Given the description of an element on the screen output the (x, y) to click on. 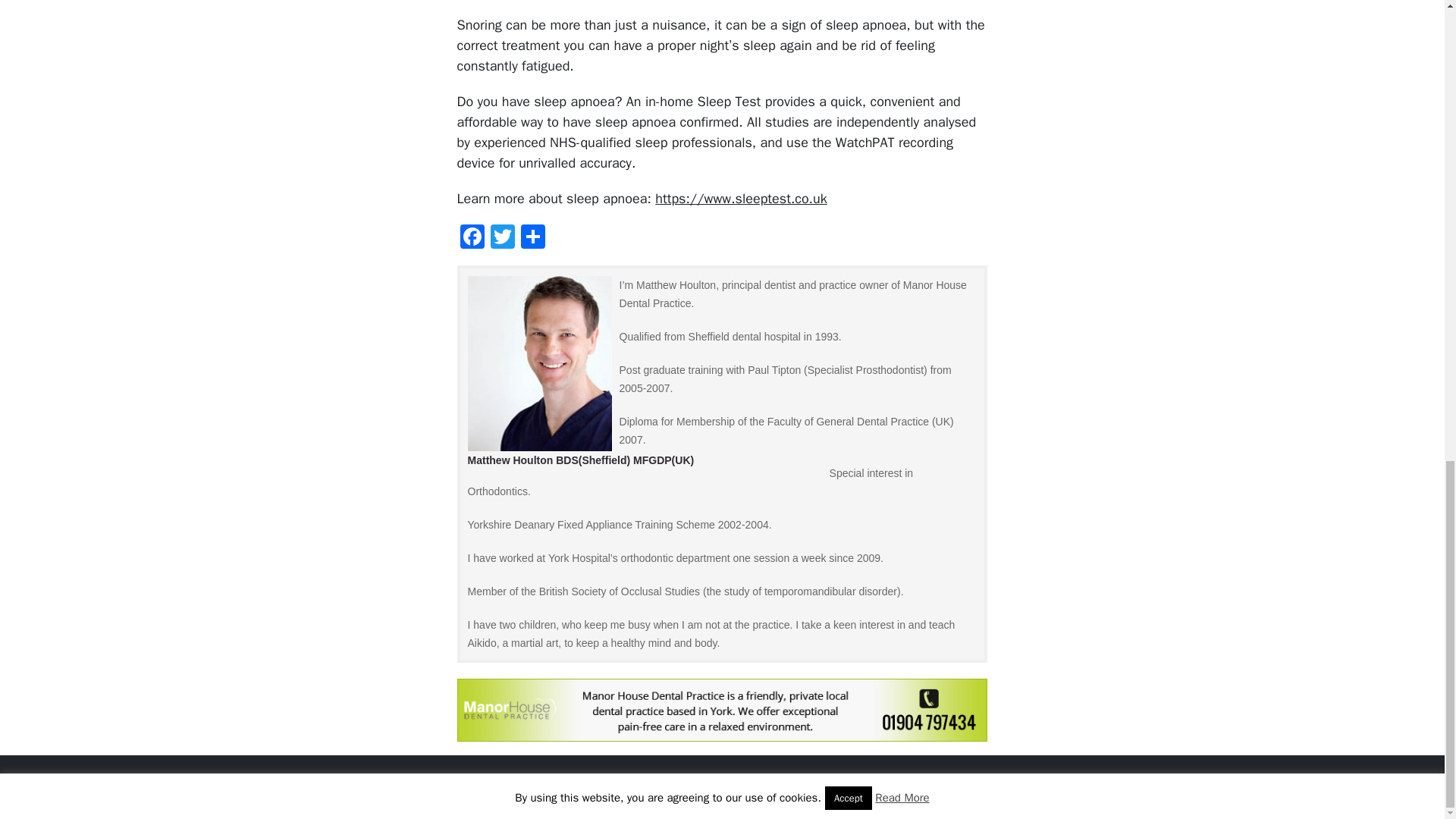
Facebook (472, 237)
Facebook (472, 237)
Twitter (502, 237)
Twitter (502, 237)
